Given the description of an element on the screen output the (x, y) to click on. 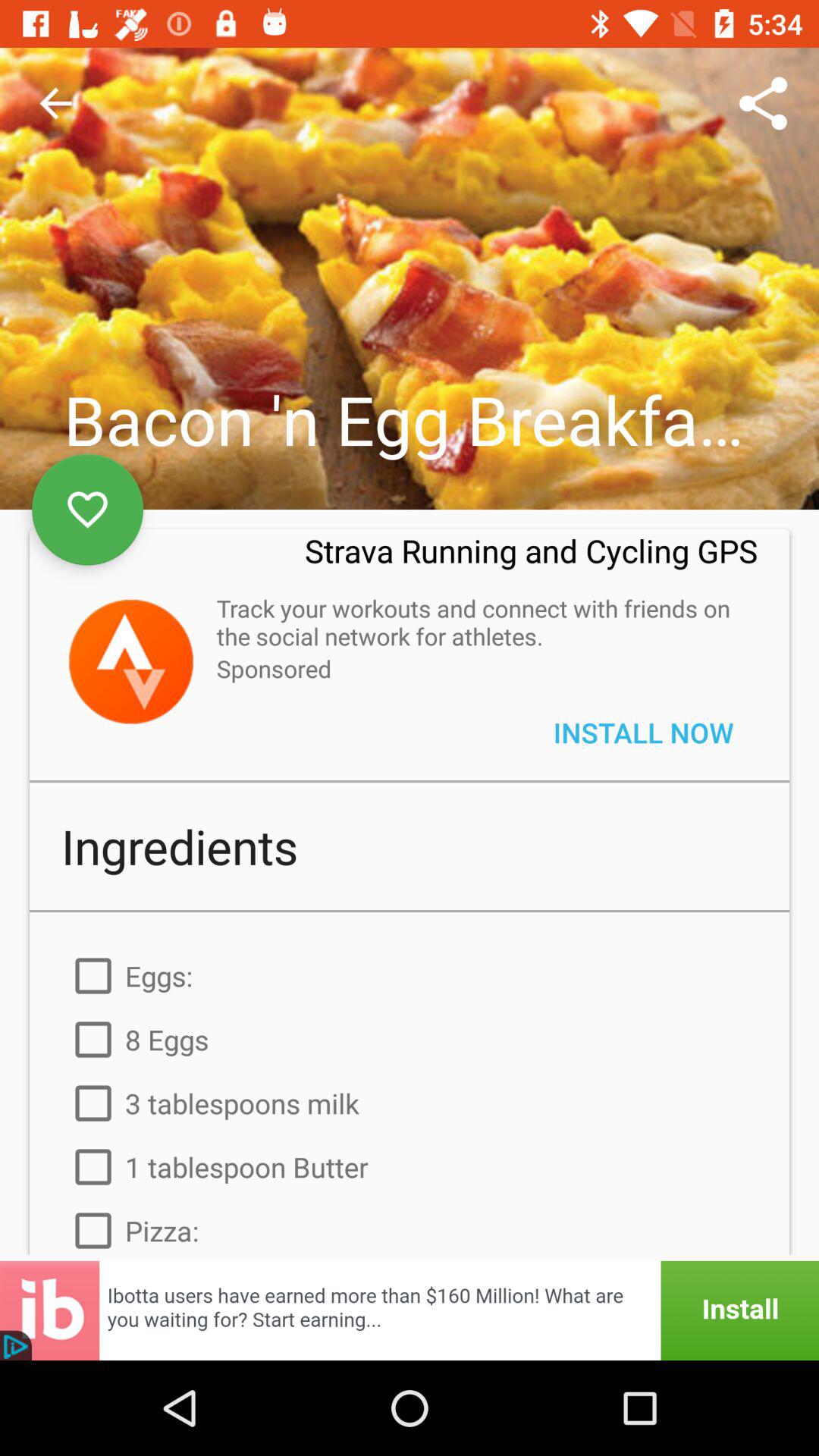
press track your workouts icon (478, 622)
